Given the description of an element on the screen output the (x, y) to click on. 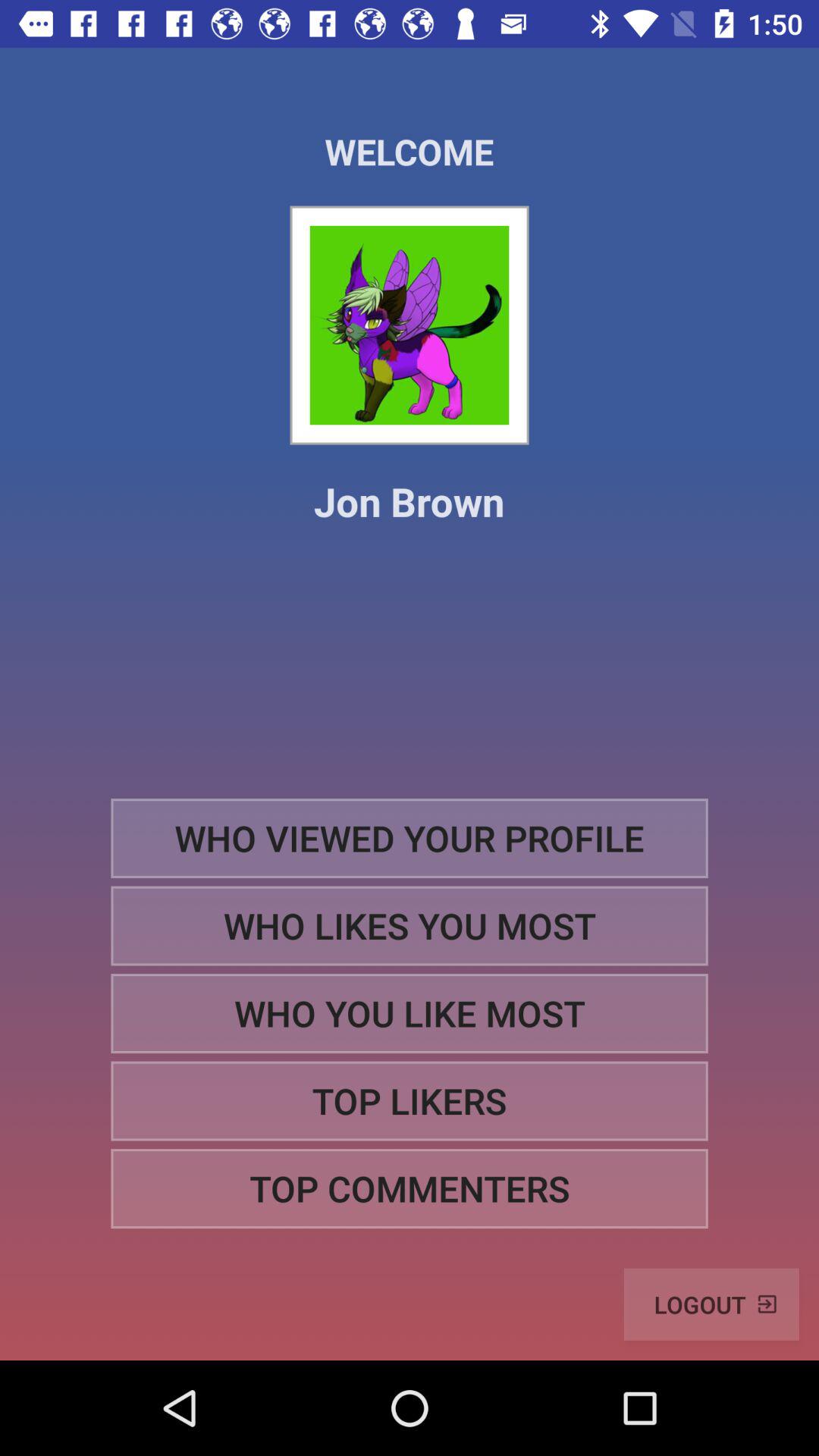
turn off icon above logout (409, 1188)
